Given the description of an element on the screen output the (x, y) to click on. 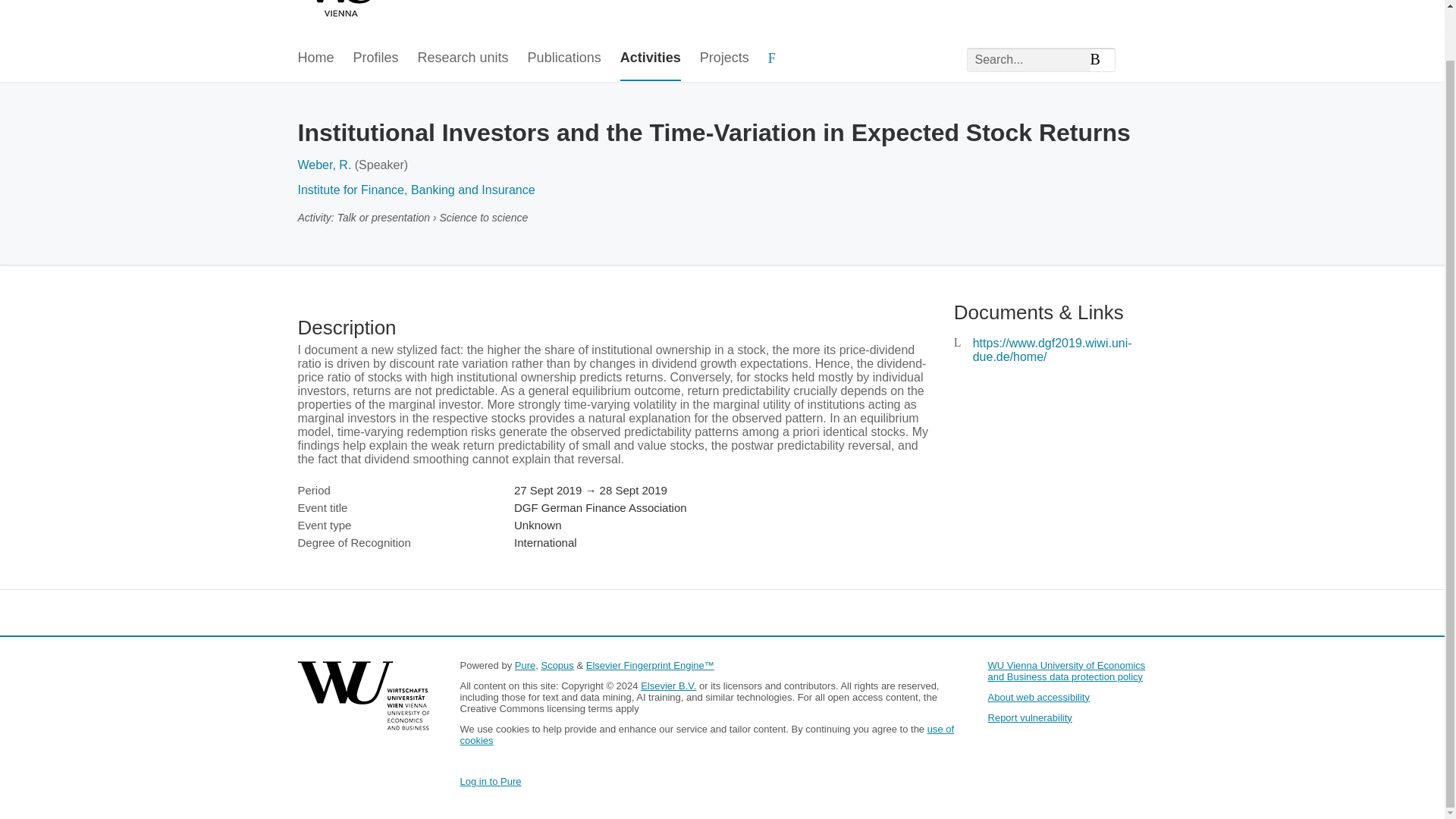
WU Vienna University of Economics and Business Home (448, 10)
About web accessibility (1038, 696)
Scopus (556, 665)
Profiles (375, 58)
use of cookies (706, 734)
Pure (525, 665)
Activities (650, 58)
Projects (724, 58)
Weber, R. (323, 164)
Log in to Pure (490, 781)
